Given the description of an element on the screen output the (x, y) to click on. 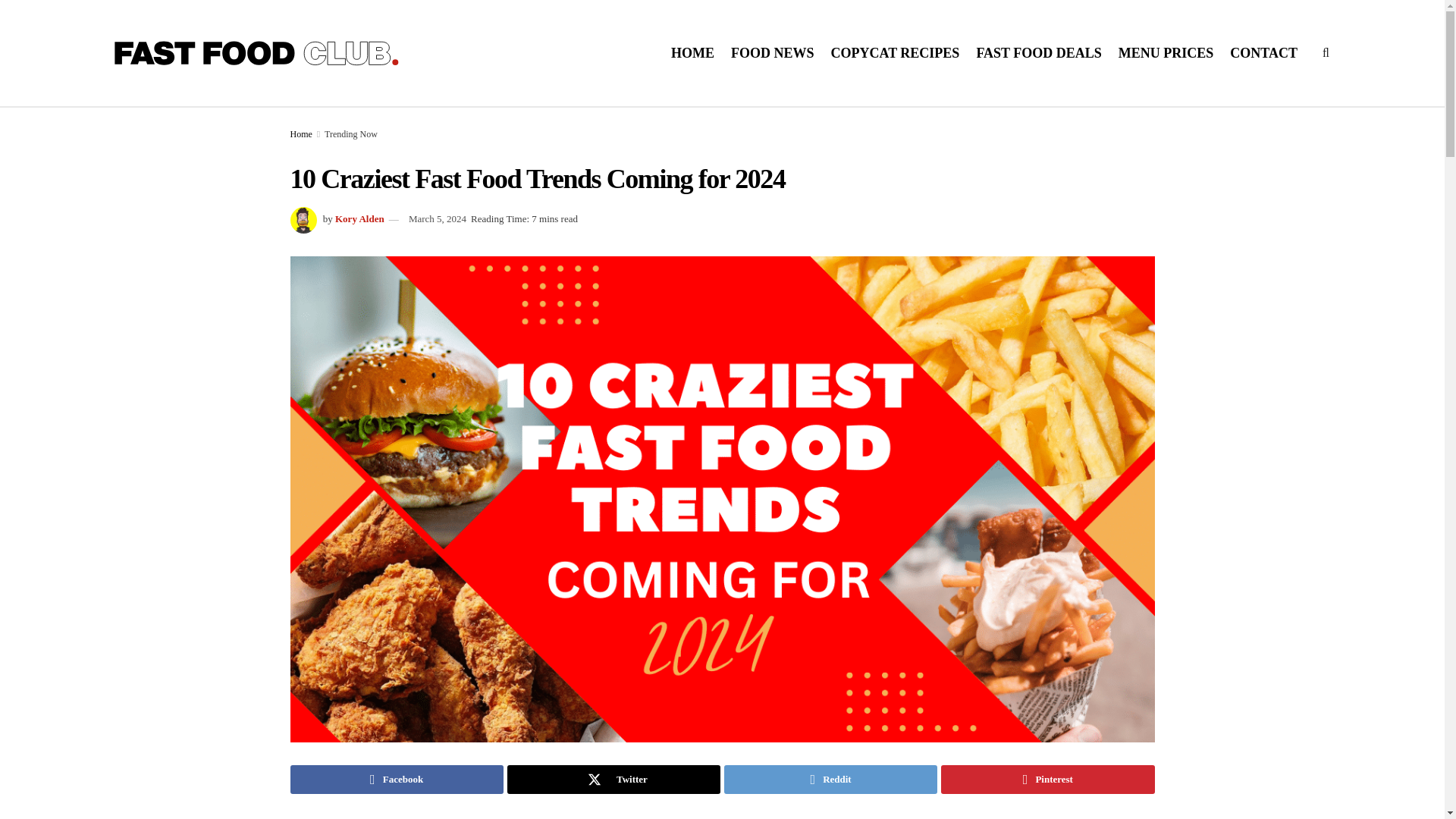
Trending Now (350, 133)
March 5, 2024 (437, 218)
MENU PRICES (1166, 53)
COPYCAT RECIPES (895, 53)
CONTACT (1263, 53)
Twitter (613, 778)
Kory Alden (359, 218)
Pinterest (1047, 778)
FOOD NEWS (771, 53)
HOME (692, 53)
Home (300, 133)
FAST FOOD DEALS (1037, 53)
Facebook (395, 778)
Reddit (830, 778)
